Given the description of an element on the screen output the (x, y) to click on. 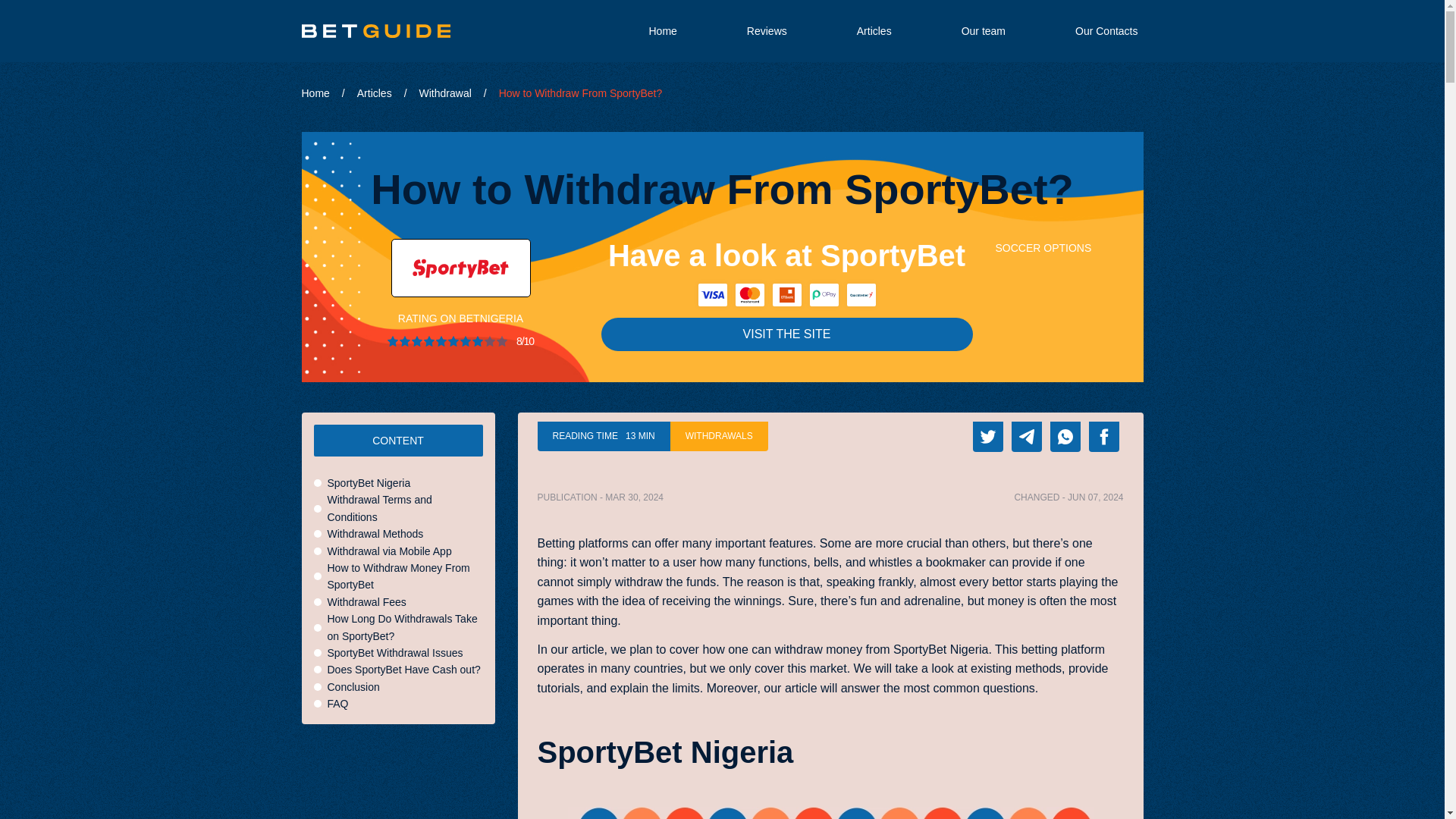
Articles (381, 93)
SportyBet Withdrawal Issues (395, 652)
Articles (873, 30)
Withdrawal Fees (366, 601)
Withdrawal Methods (375, 533)
Does SportyBet Have Cash out? (403, 669)
Home (662, 30)
FAQ (338, 703)
Our Contacts (1106, 30)
Withdrawal Terms and Conditions (405, 508)
